Given the description of an element on the screen output the (x, y) to click on. 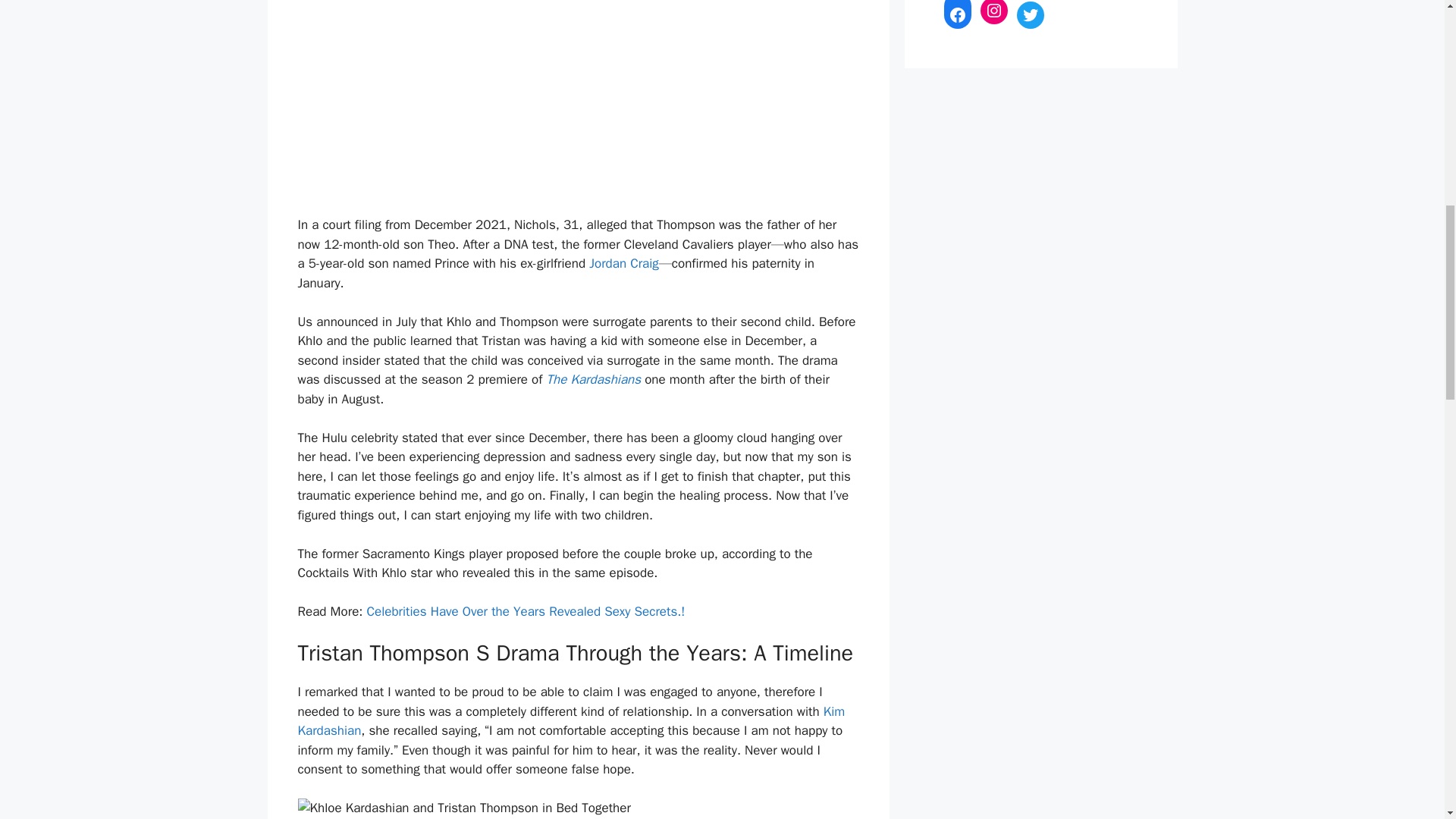
Facebook (957, 14)
Jordan Craig (624, 263)
Celebrities Have Over the Years Revealed Sexy Secrets.! (525, 611)
Instagram (993, 12)
The Kardashians (593, 379)
Twitter (1029, 14)
Kim Kardashian (570, 721)
